Given the description of an element on the screen output the (x, y) to click on. 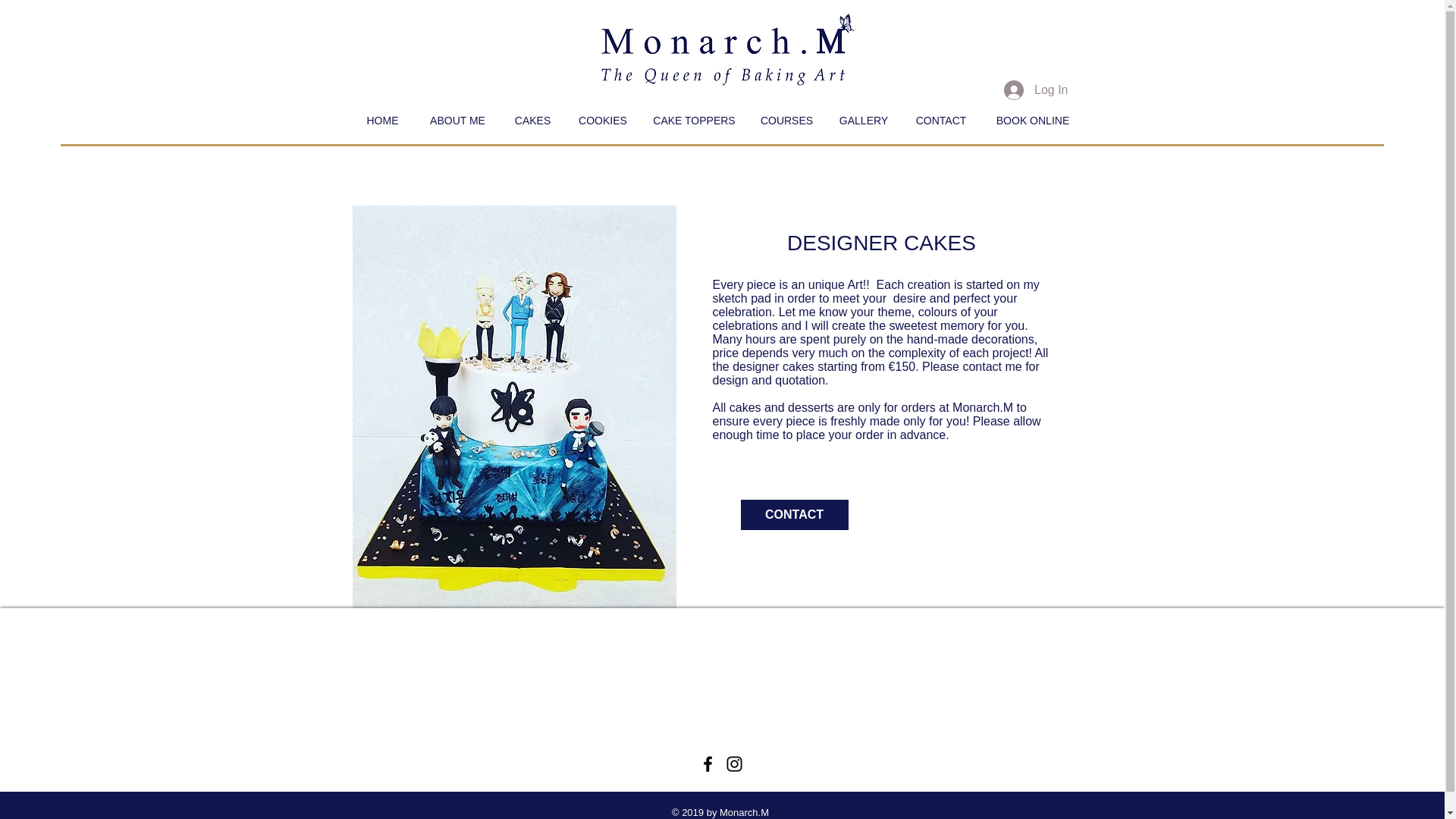
HOME (381, 120)
Log In (1035, 90)
CAKE TOPPERS (695, 120)
CONTACT (940, 120)
BOOK ONLINE (1032, 120)
ABOUT ME (456, 120)
COURSES (787, 120)
